Given the description of an element on the screen output the (x, y) to click on. 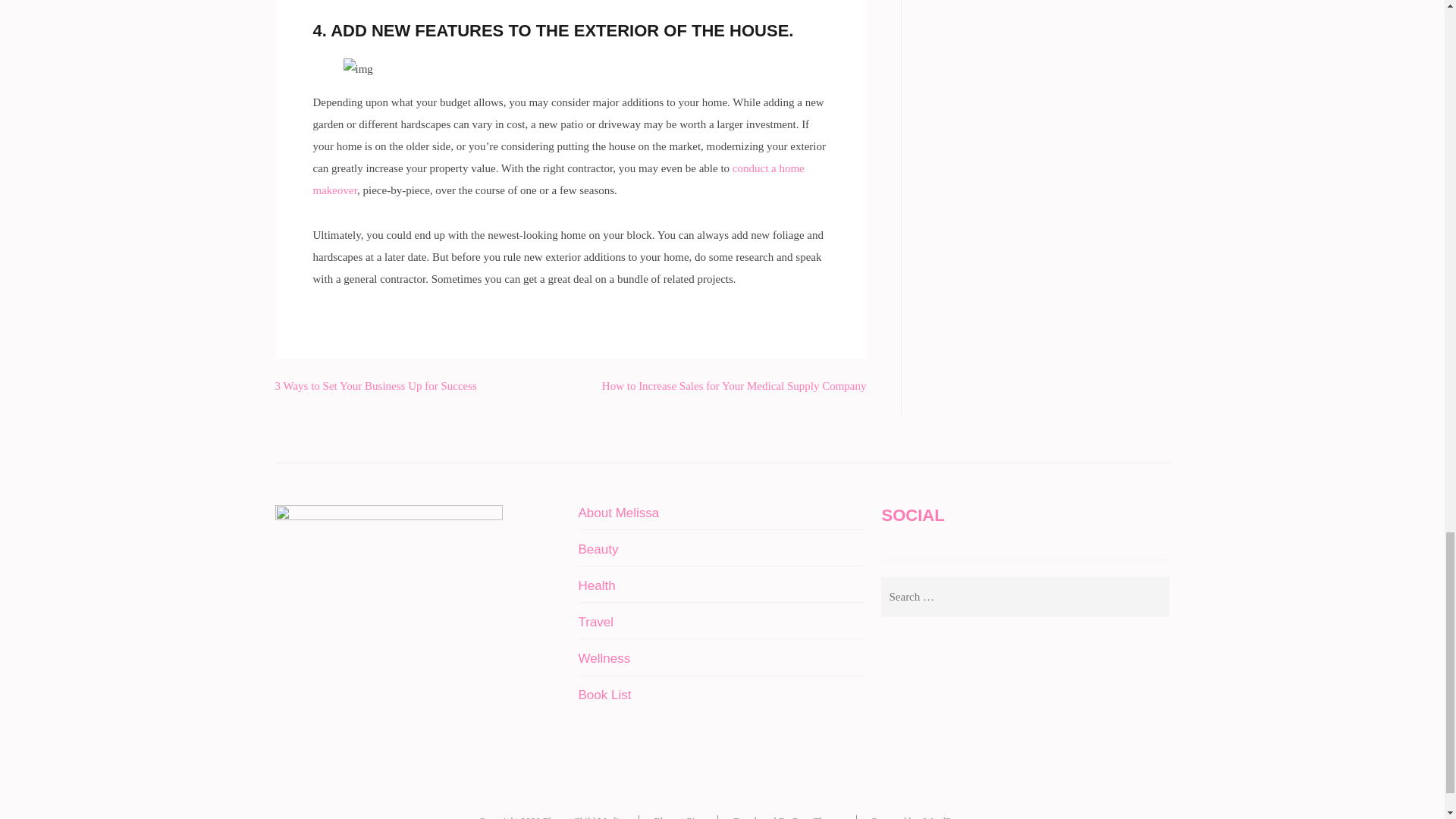
How to Increase Sales for Your Medical Supply Company (734, 386)
conduct a home makeover (558, 179)
Search (1149, 597)
Search (1149, 597)
3 Ways to Set Your Business Up for Success (375, 386)
